Given the description of an element on the screen output the (x, y) to click on. 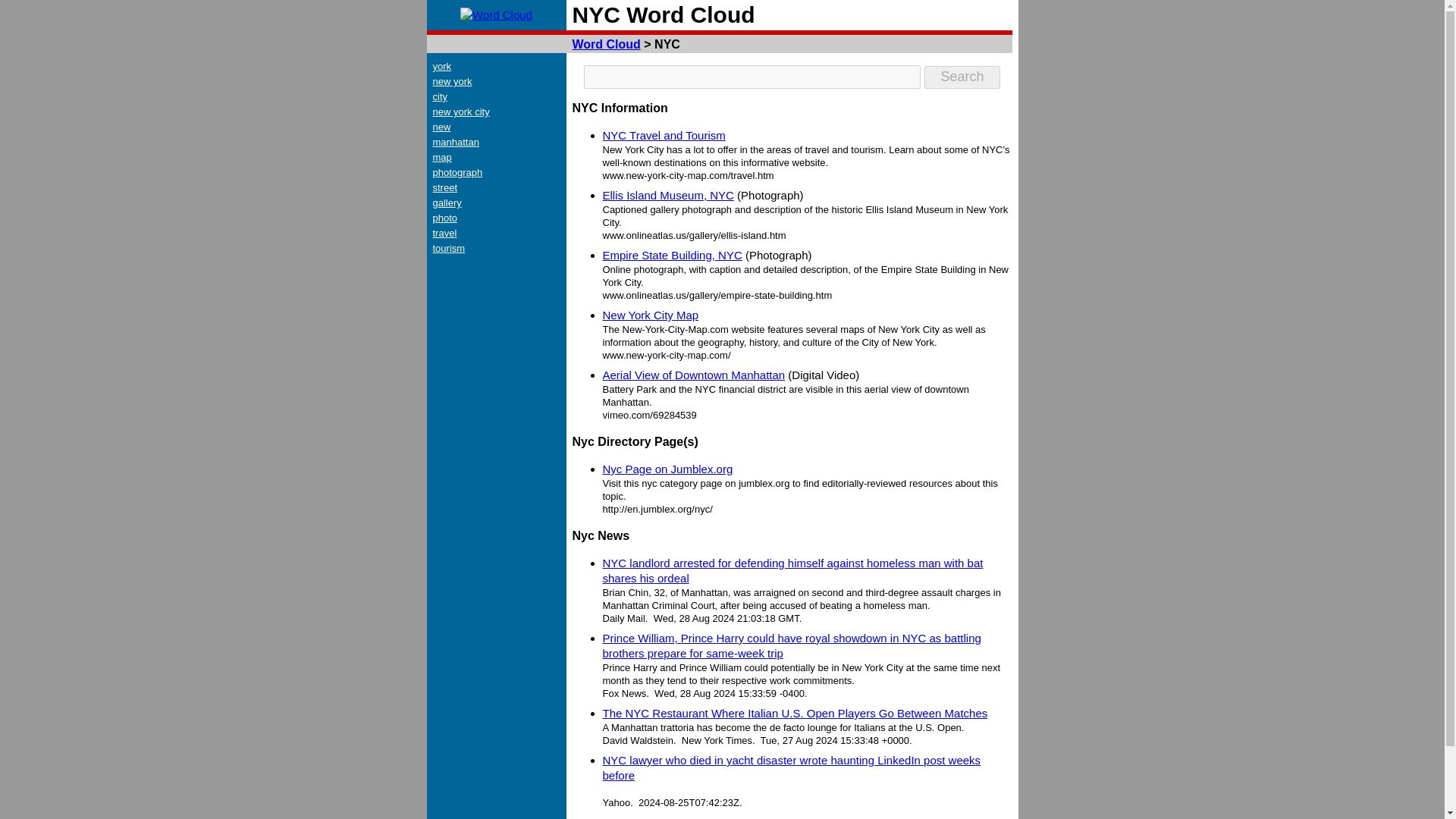
Ellis Island Museum, NYC (667, 195)
new york (451, 81)
NYC Travel and Tourism (663, 134)
city (439, 96)
york (441, 66)
Nyc Page on Jumblex.org (667, 468)
manhattan (455, 142)
